Given the description of an element on the screen output the (x, y) to click on. 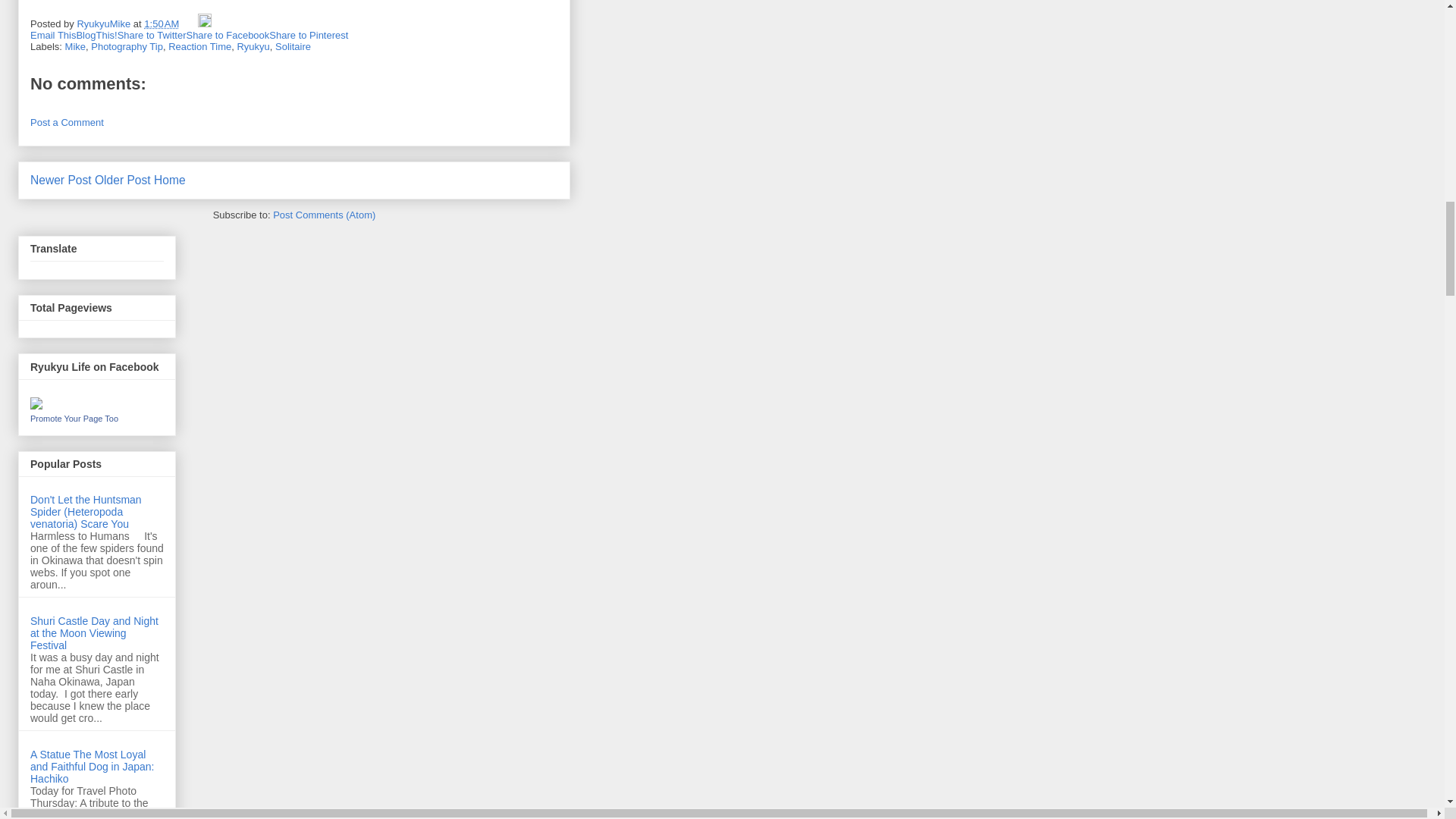
Share to Pinterest (308, 34)
Share to Twitter (151, 34)
permanent link (161, 23)
Edit Post (204, 23)
Email This (52, 34)
Older Post (122, 179)
Share to Facebook (227, 34)
Solitaire (293, 46)
Photography Tip (126, 46)
Newer Post (60, 179)
BlogThis! (95, 34)
RyukyuMike (104, 23)
Home (170, 179)
Promote Your Page Too (73, 418)
Mike (75, 46)
